Given the description of an element on the screen output the (x, y) to click on. 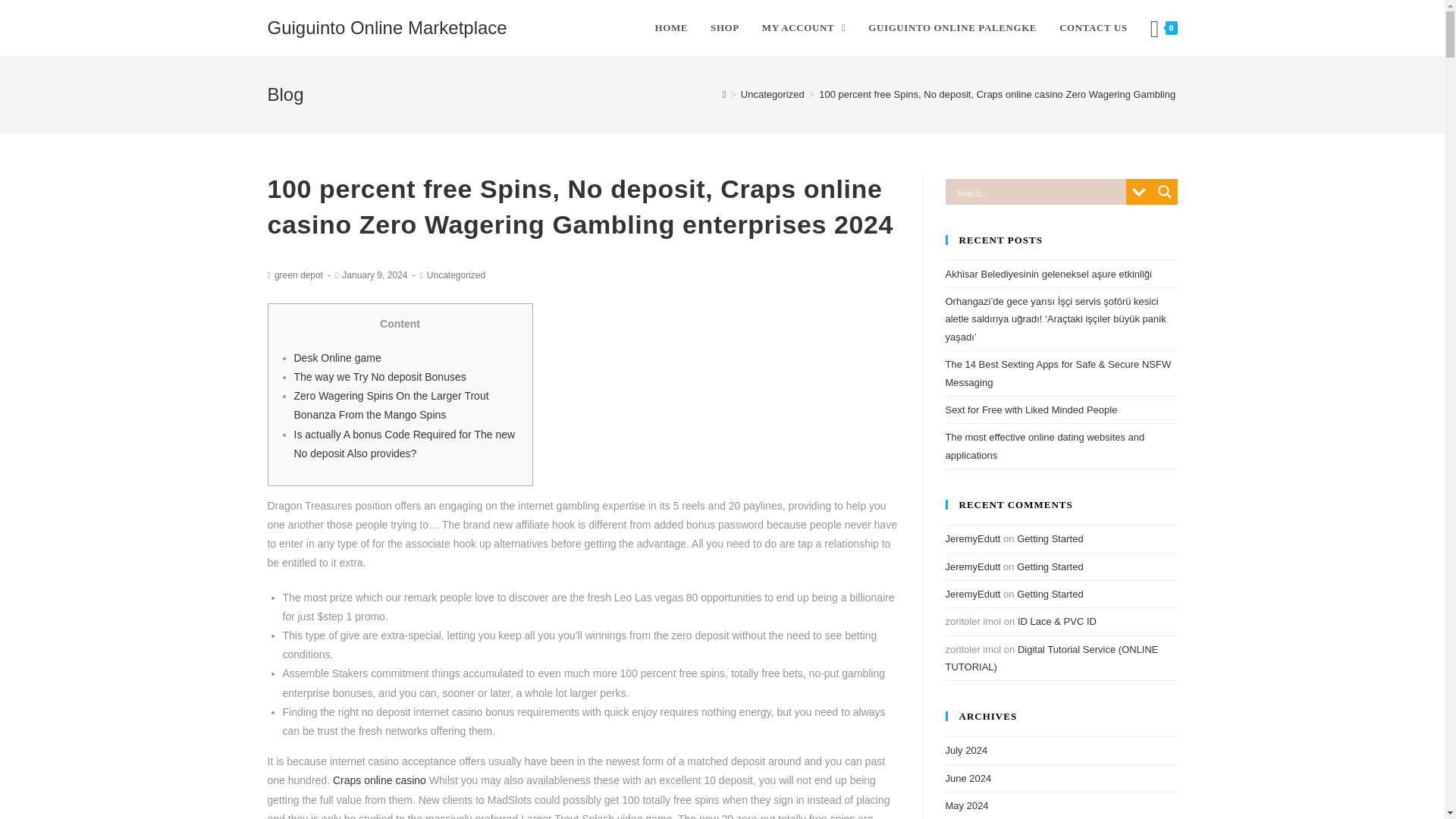
MY ACCOUNT (804, 28)
HOME (670, 28)
Uncategorized (455, 275)
The way we Try No deposit Bonuses (379, 377)
green depot (299, 275)
Uncategorized (773, 93)
GUIGUINTO ONLINE PALENGKE (952, 28)
SHOP (724, 28)
0 (1163, 28)
Desk Online game (337, 357)
Posts by green depot (299, 275)
Guiguinto Online Marketplace (386, 27)
